Given the description of an element on the screen output the (x, y) to click on. 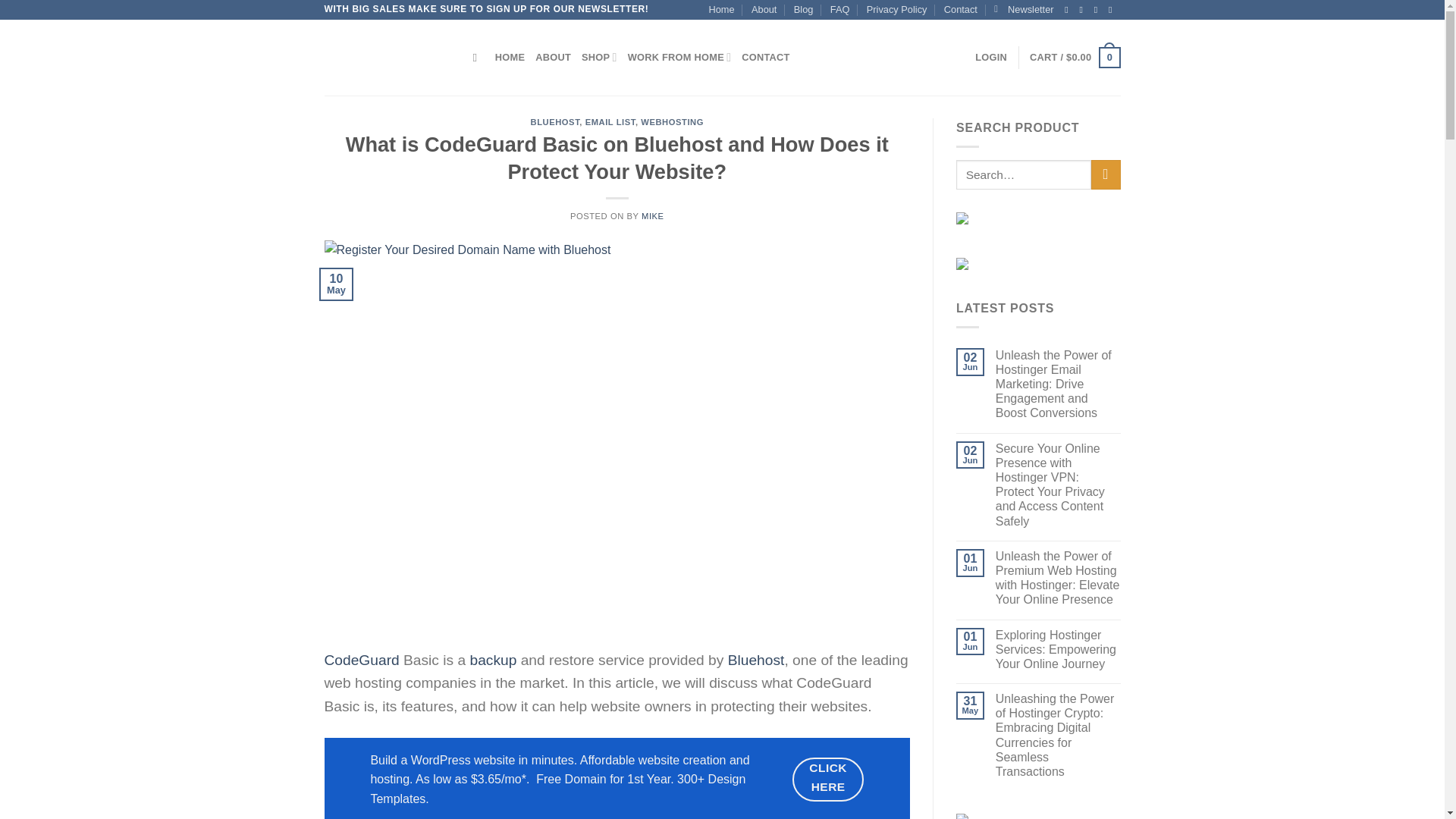
HOME (509, 57)
ABOUT (552, 57)
Home (720, 9)
Cart (1074, 57)
SHOP (598, 57)
FAQ (839, 9)
Newsletter (1023, 9)
About (763, 9)
Contact (959, 9)
WORK FROM HOME (679, 57)
